Given the description of an element on the screen output the (x, y) to click on. 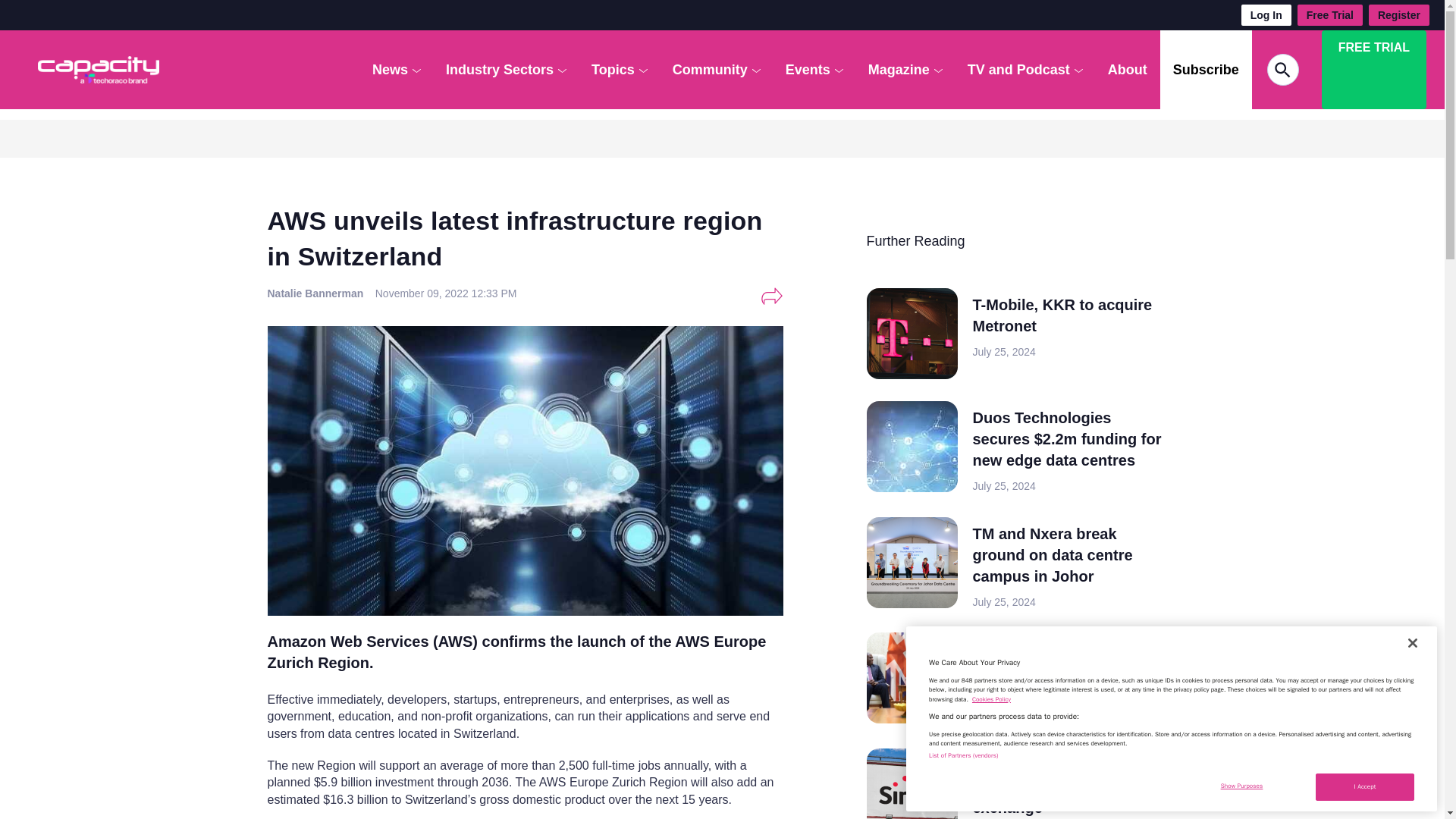
Free Trial (1329, 14)
Register (1398, 14)
Log In (1266, 14)
Share (771, 296)
